Given the description of an element on the screen output the (x, y) to click on. 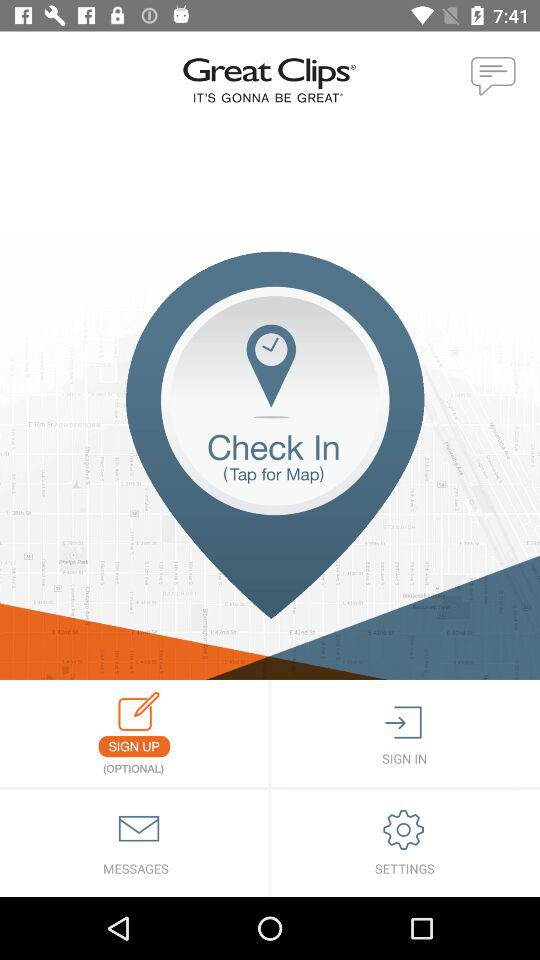
select sign in (405, 733)
